Given the description of an element on the screen output the (x, y) to click on. 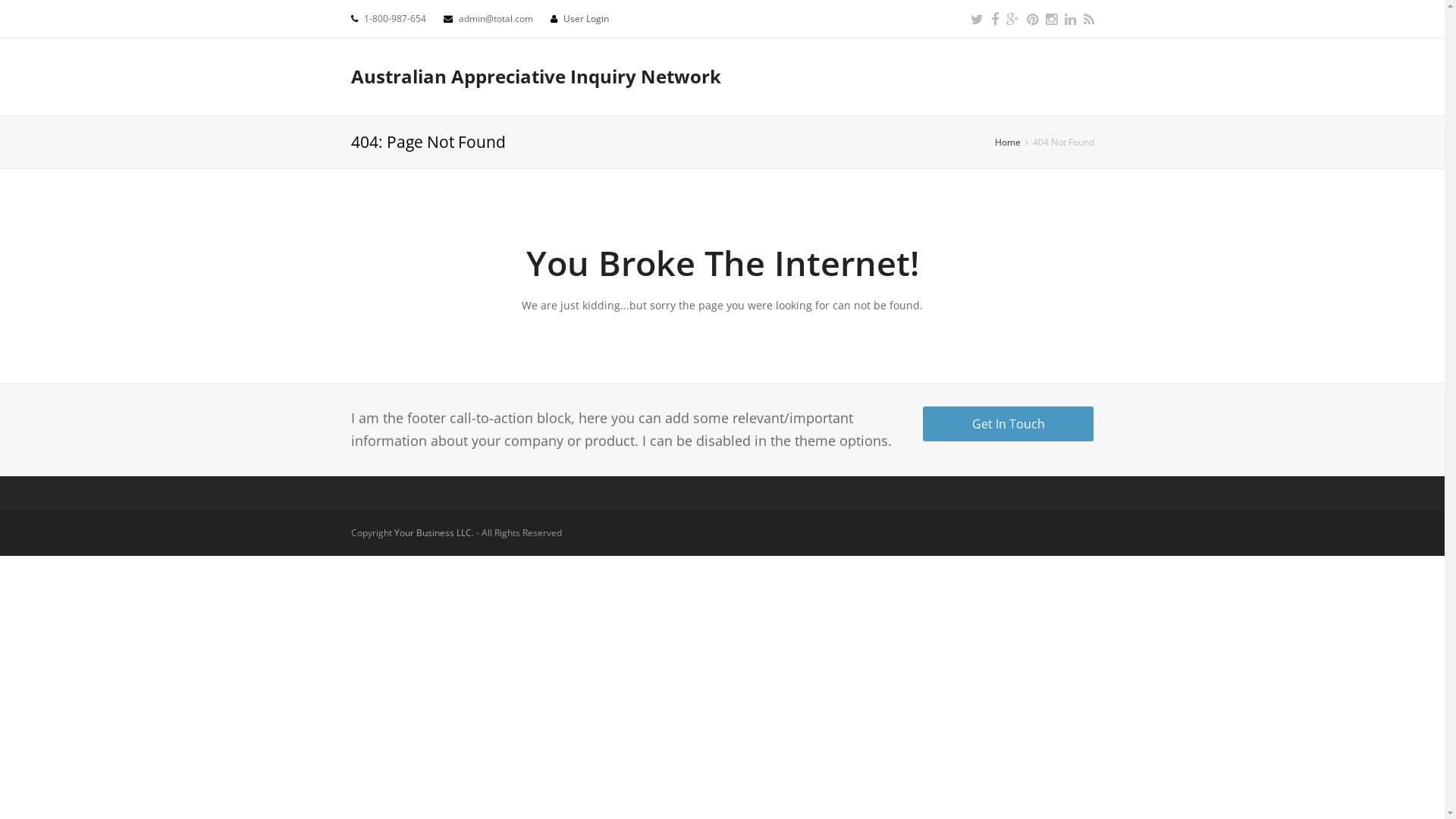
Twitter Element type: hover (976, 18)
Your Business LLC. Element type: text (433, 532)
Instagram Element type: hover (1050, 18)
Google Plus Element type: hover (1011, 18)
Facebook Element type: hover (993, 18)
Pinterest Element type: hover (1032, 18)
LinkedIn Element type: hover (1070, 18)
Get In Touch Element type: text (1007, 423)
Home Element type: text (1007, 141)
RSS Element type: hover (1087, 18)
Australian Appreciative Inquiry Network Element type: text (535, 75)
User Login Element type: text (585, 18)
